Given the description of an element on the screen output the (x, y) to click on. 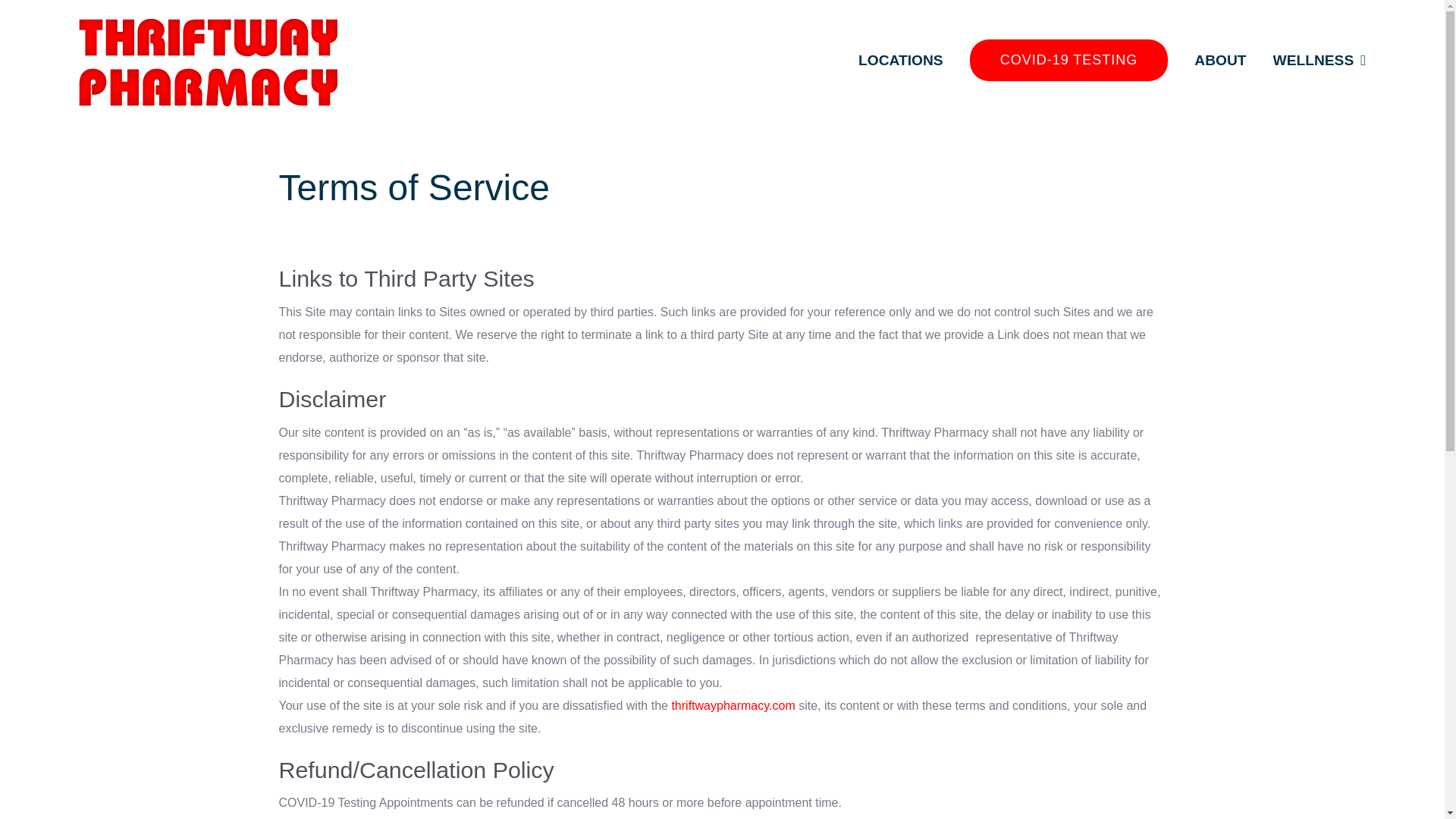
LOCATIONS (901, 59)
WELLNESS (1319, 59)
ABOUT (1219, 59)
thriftwaypharmacy.com (732, 705)
COVID-19 TESTING (1069, 59)
